Given the description of an element on the screen output the (x, y) to click on. 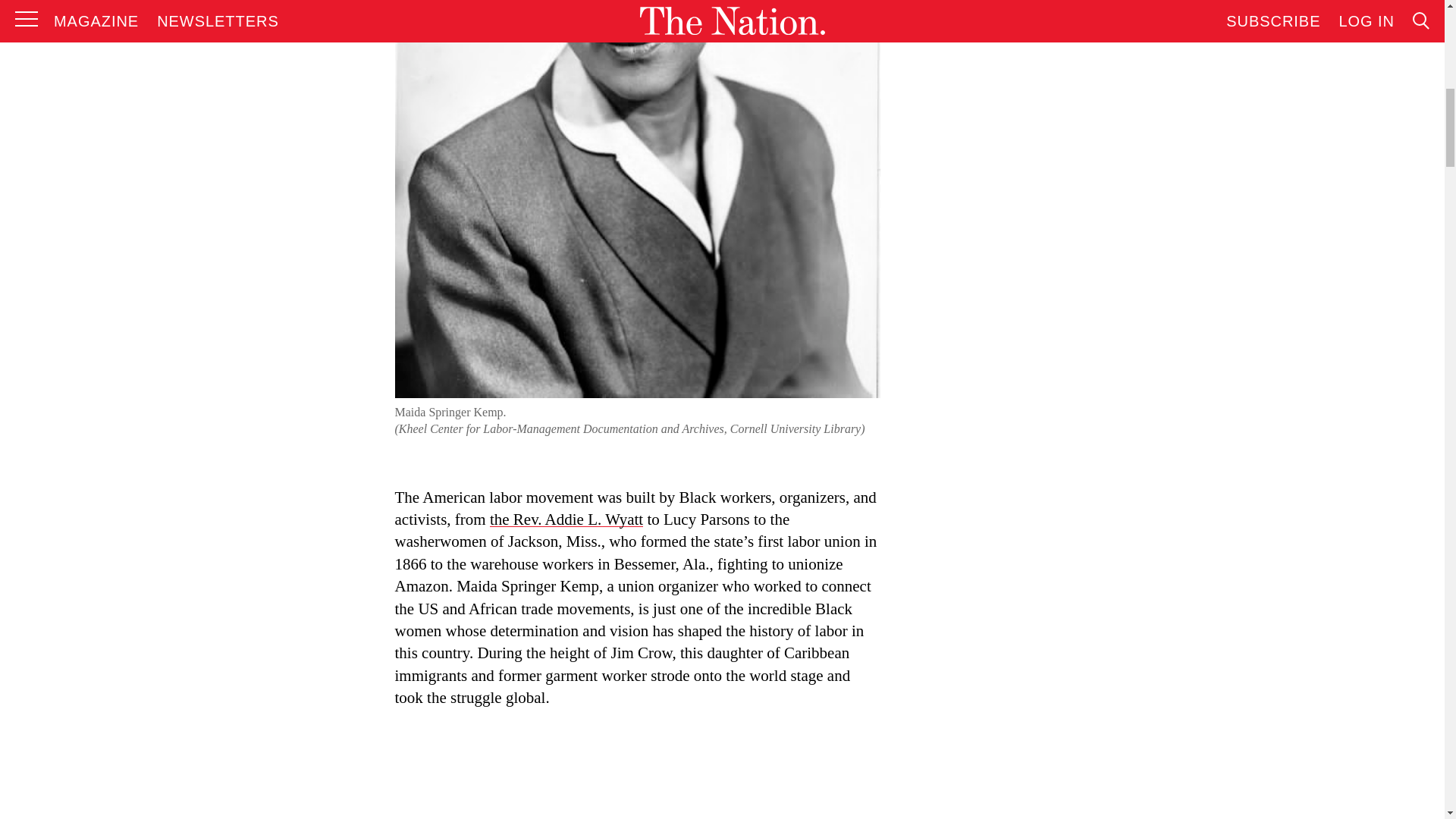
the Rev. Addie L. Wyatt (566, 519)
